Given the description of an element on the screen output the (x, y) to click on. 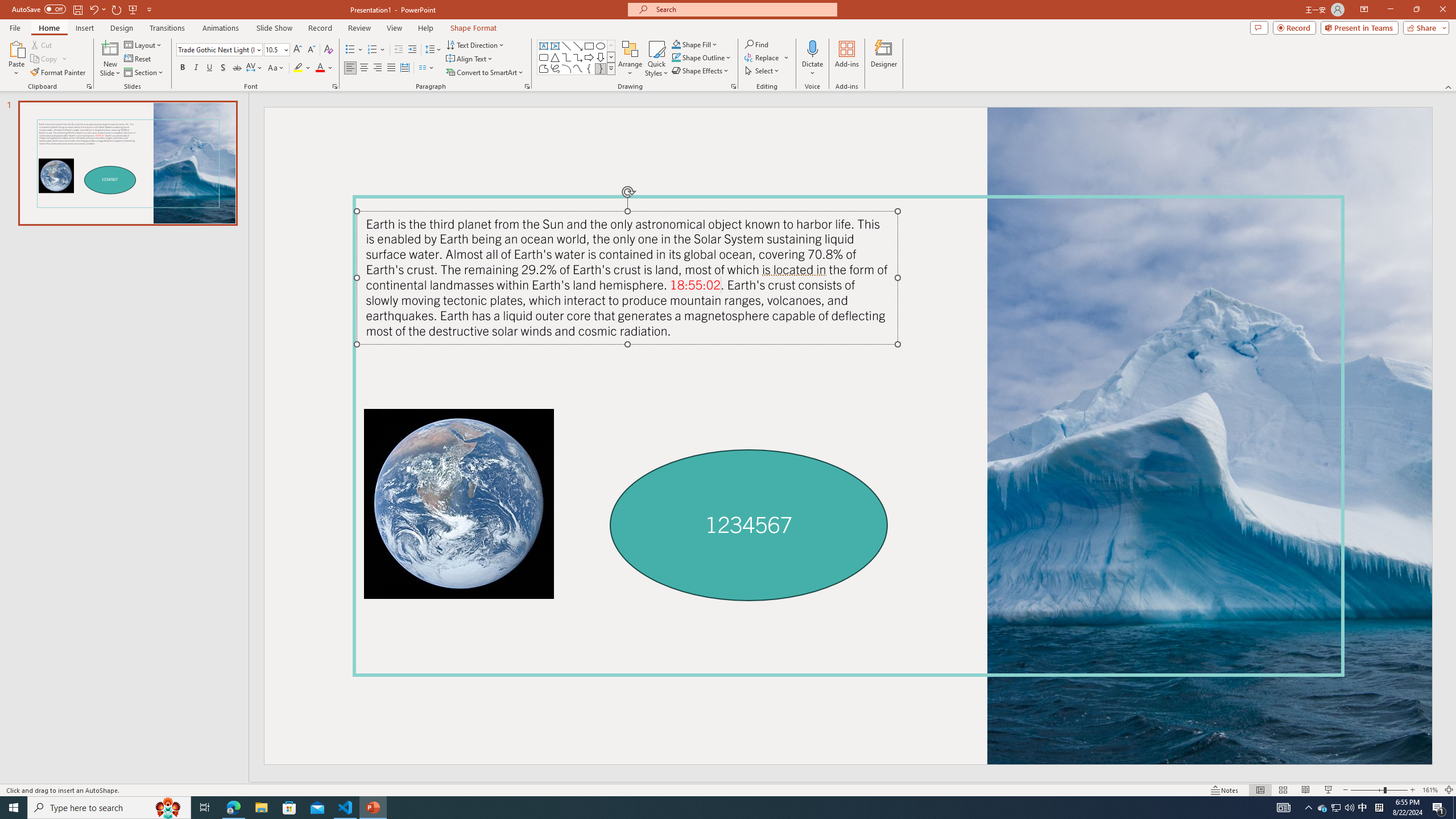
Shape Effects (700, 69)
